Given the description of an element on the screen output the (x, y) to click on. 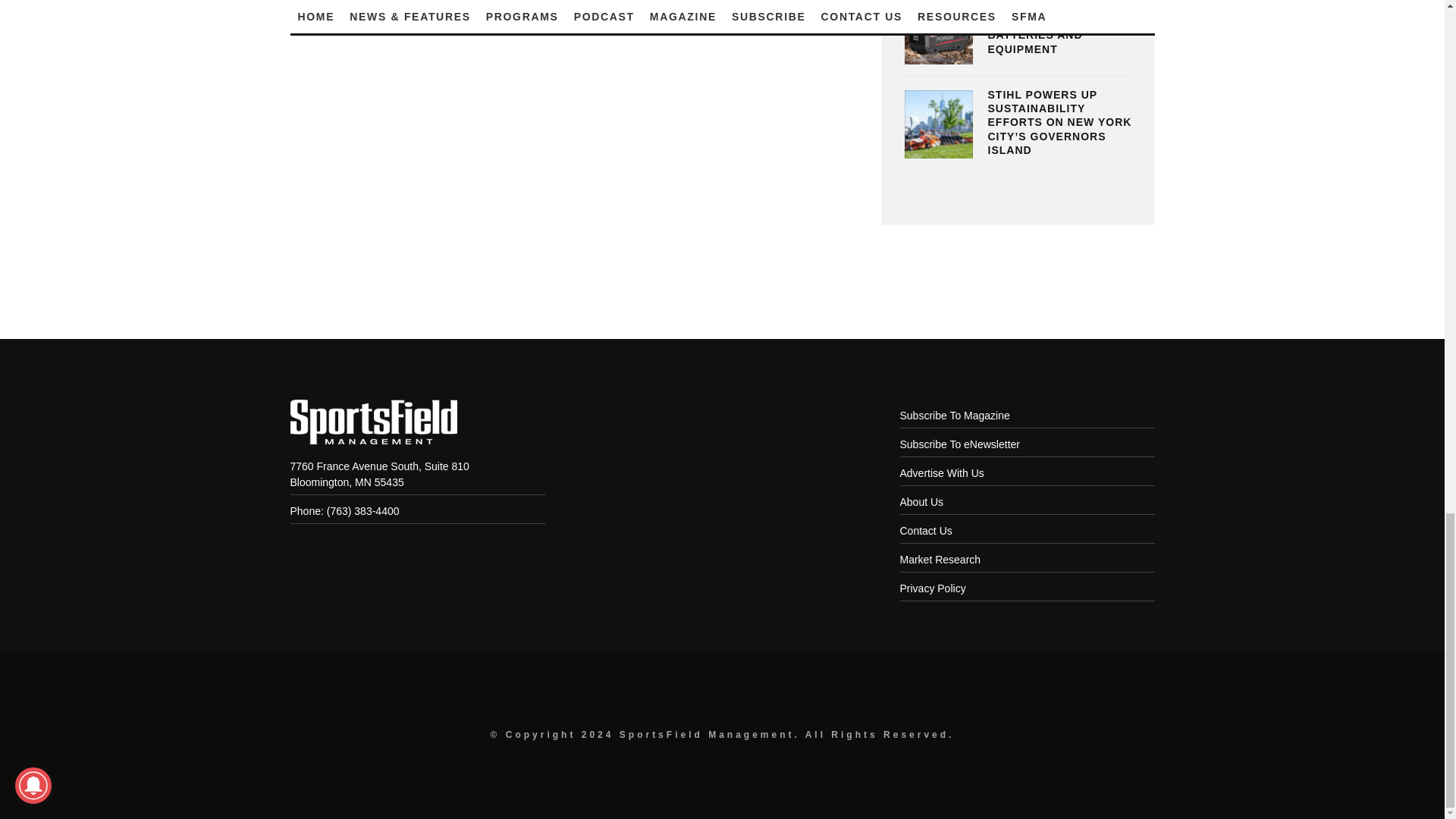
3rd party ad content (721, 289)
